Given the description of an element on the screen output the (x, y) to click on. 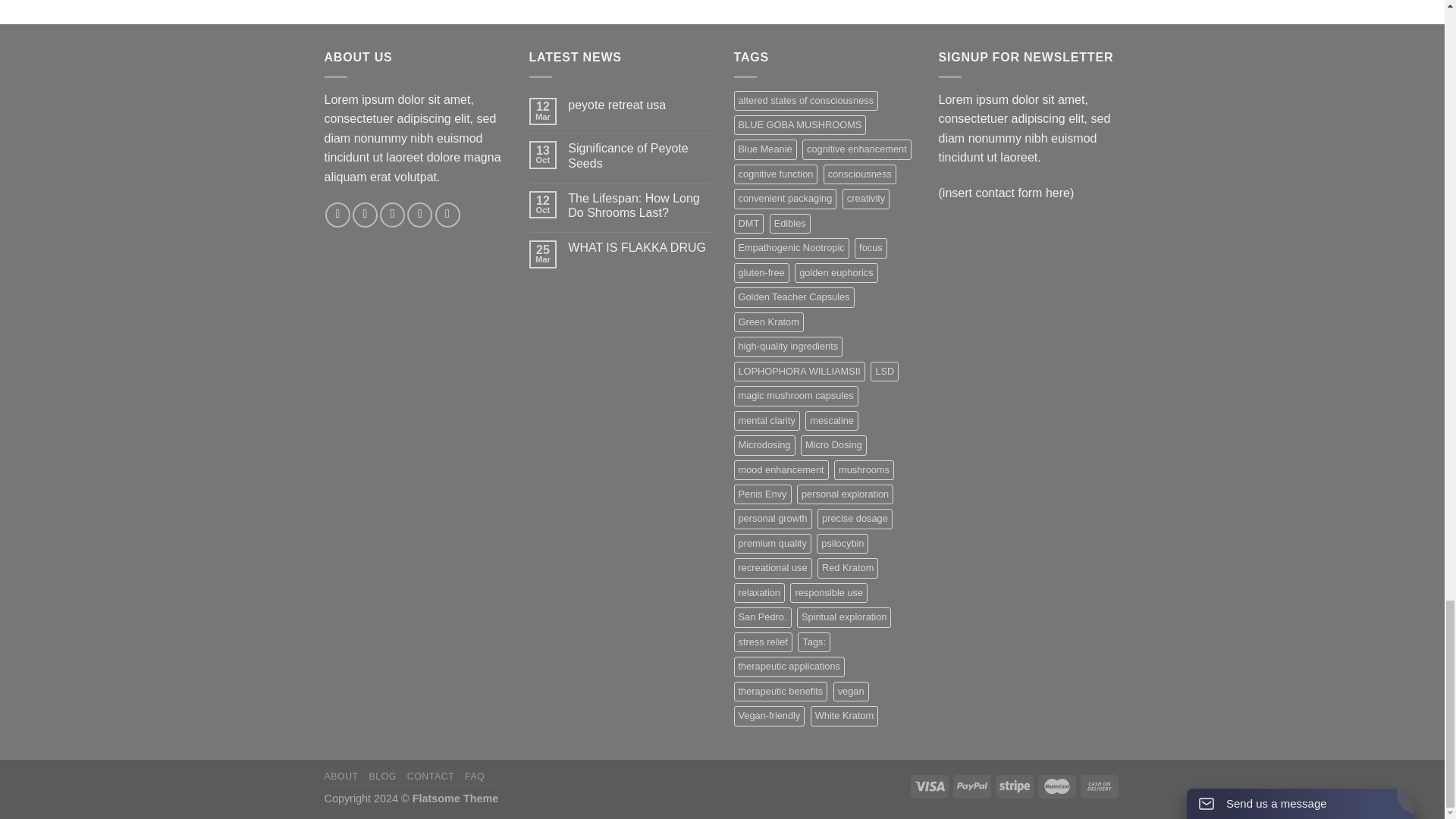
Follow on Instagram (364, 214)
Follow on Facebook (337, 214)
